Given the description of an element on the screen output the (x, y) to click on. 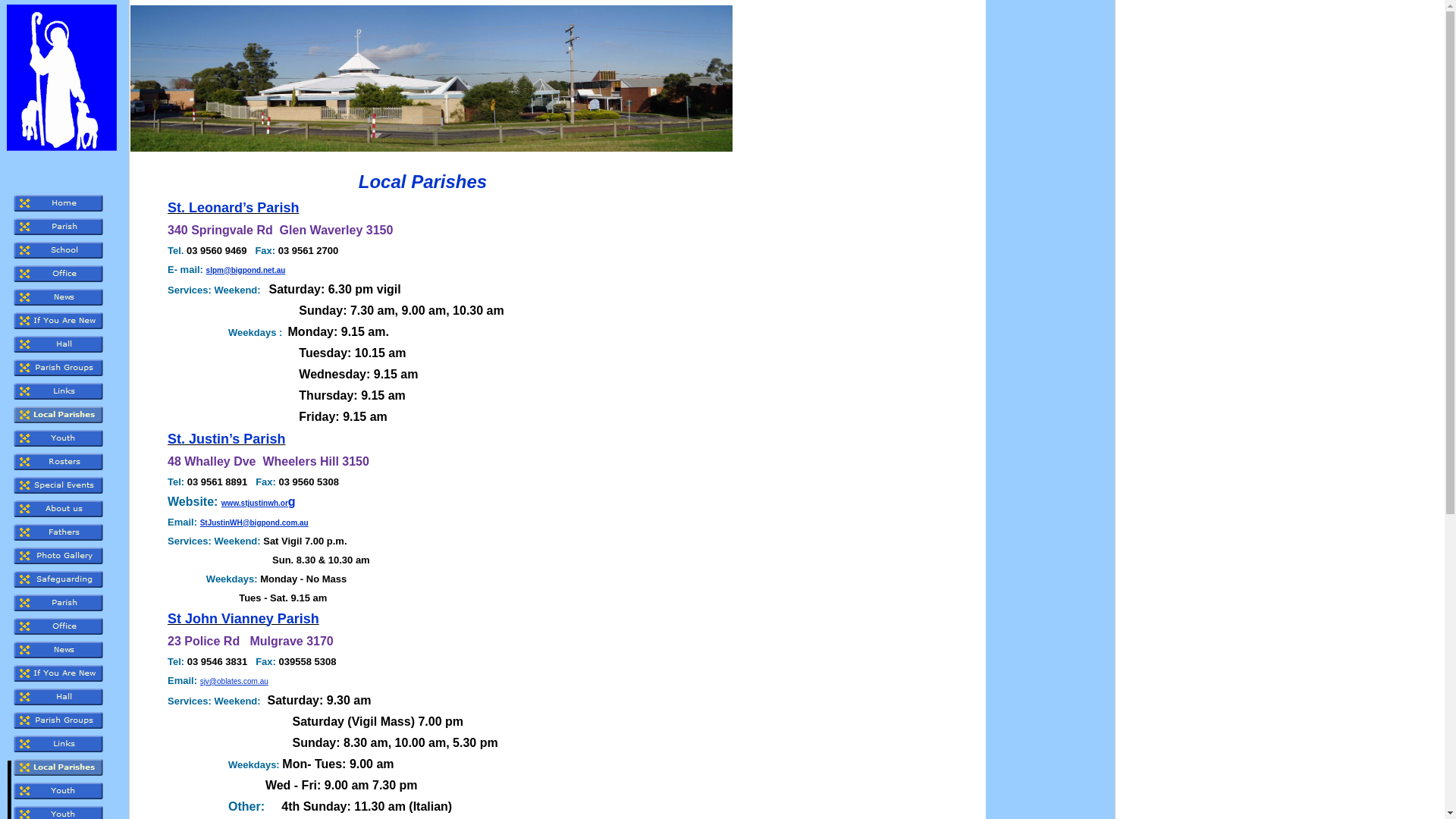
Goodshep02 Element type: hover (61, 77)
Rosters Element type: hover (64, 461)
Links Element type: hover (64, 743)
Gs1a Element type: hover (431, 78)
Home Element type: hover (64, 202)
Fathers Element type: hover (64, 531)
Parish Groups Element type: hover (64, 367)
www.stjustinwh.or Element type: text (254, 502)
Special Events Element type: hover (64, 484)
Youth  Element type: hover (64, 437)
Safeguarding Element type: hover (64, 578)
Hall Element type: hover (64, 343)
If You Are New Element type: hover (64, 672)
Youth  Element type: hover (64, 790)
Local Parishes Element type: hover (64, 414)
Parish Element type: hover (64, 602)
Hall Element type: hover (64, 696)
School Element type: hover (64, 249)
Links Element type: hover (64, 390)
Parish Groups Element type: hover (64, 719)
Office Element type: hover (64, 625)
About us Element type: hover (64, 508)
sjv@oblates.com.au Element type: text (234, 681)
StJustinWH@bigpond.com.au Element type: text (254, 522)
Photo Gallery Element type: hover (64, 555)
News Element type: hover (64, 649)
Office Element type: hover (64, 273)
slpm@bigpond.net.au Element type: text (245, 270)
Local Parishes Element type: hover (64, 766)
Parish Element type: hover (64, 226)
News Element type: hover (64, 296)
If You Are New Element type: hover (64, 320)
